Given the description of an element on the screen output the (x, y) to click on. 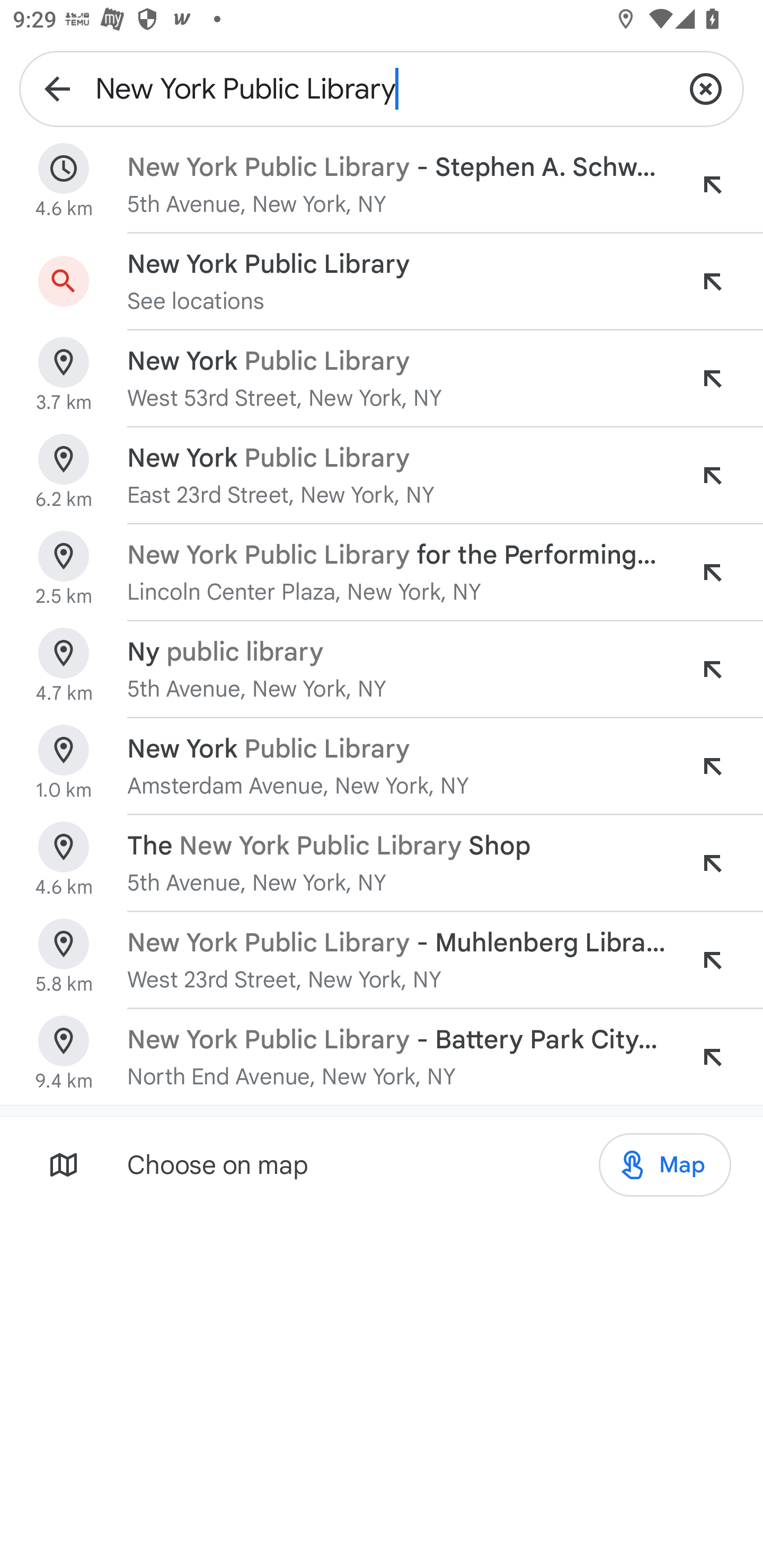
Navigate up (57, 88)
New York Public Library (381, 88)
Clear (705, 88)
Choose on map Map Map Map (381, 1164)
Map Map Map (664, 1164)
